Given the description of an element on the screen output the (x, y) to click on. 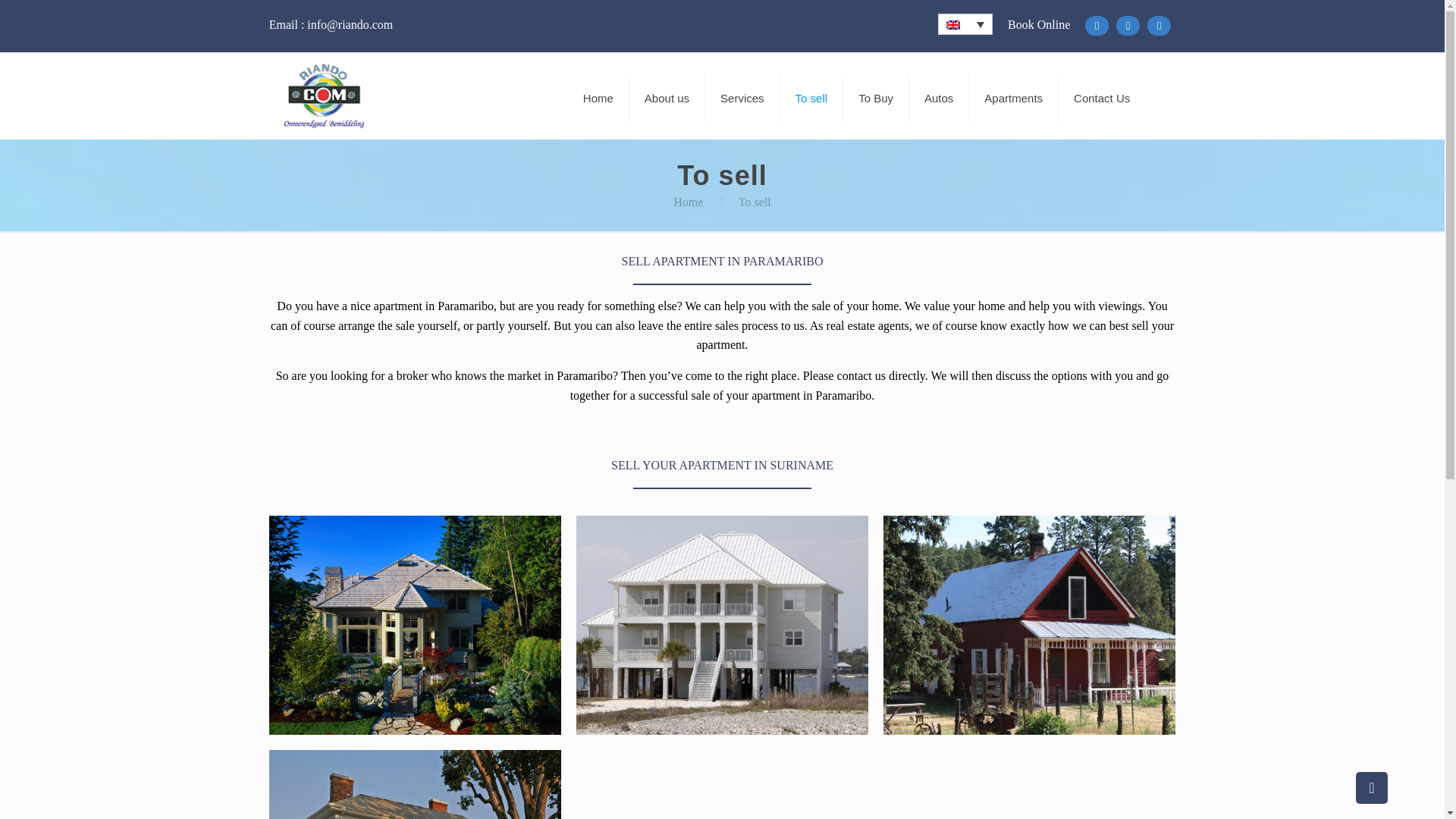
Home (687, 201)
Services (742, 98)
Apartments (1013, 98)
To sell (812, 98)
Book Online (1038, 24)
Contact Us (1101, 98)
Riando (324, 95)
Autos (938, 98)
Twitter (1128, 25)
Home (597, 98)
To Buy (875, 98)
Facebook (1096, 25)
About us (666, 98)
